Given the description of an element on the screen output the (x, y) to click on. 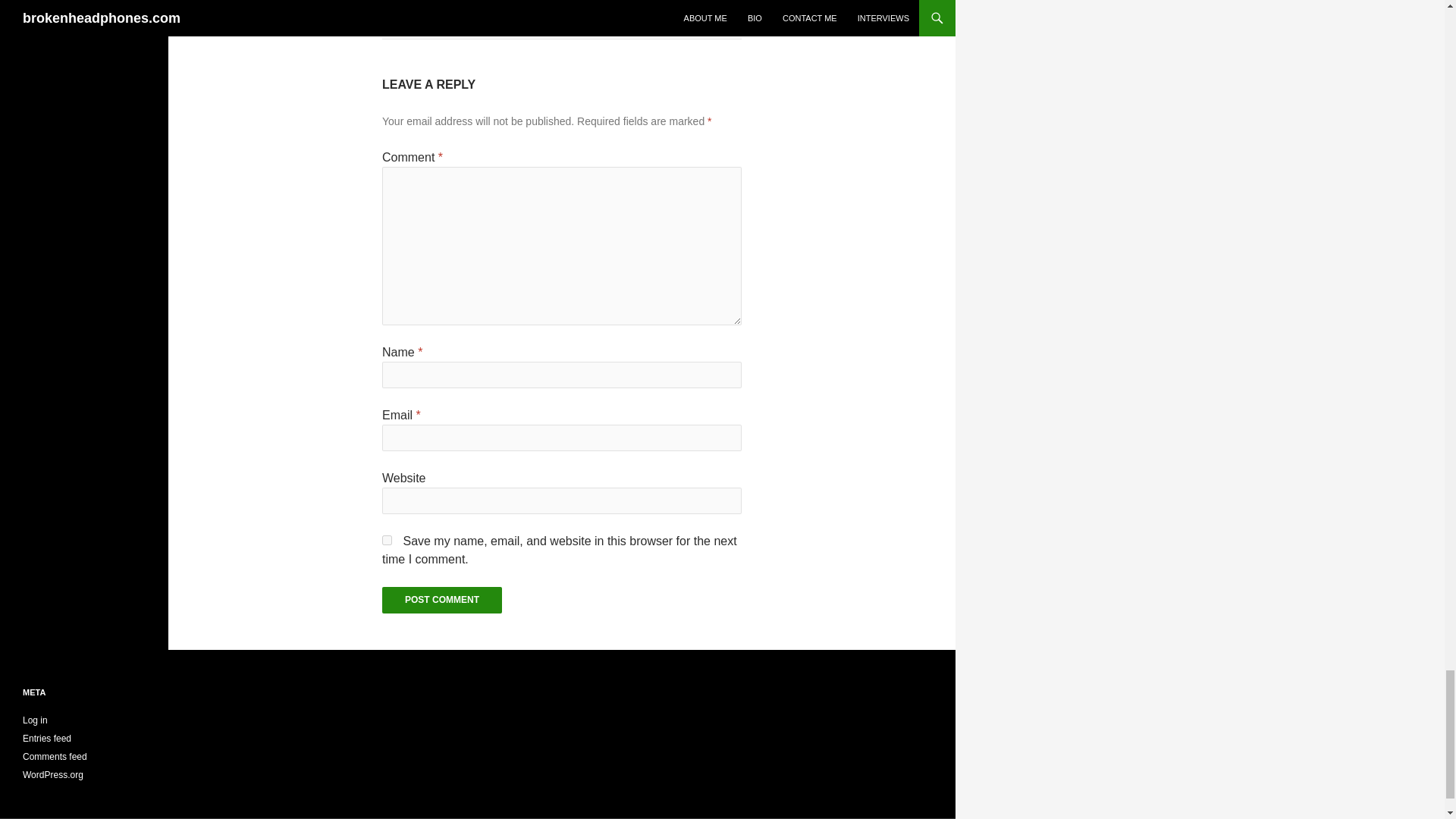
Post Comment (441, 600)
yes (386, 540)
Post Comment (441, 600)
